Given the description of an element on the screen output the (x, y) to click on. 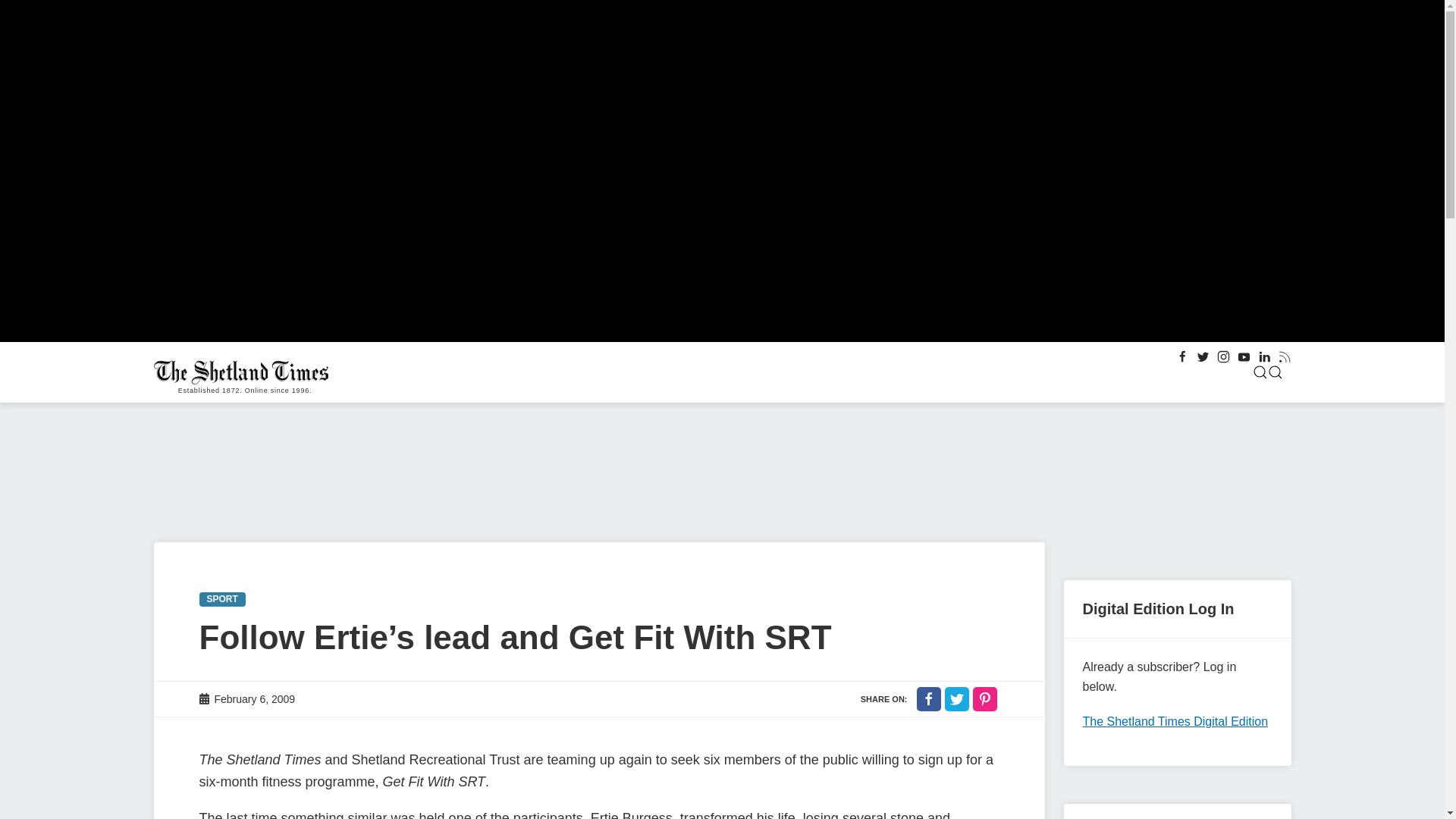
SPORT (221, 599)
The Shetland Times Digital Edition (1175, 721)
Established 1872. Online since 1996. (244, 372)
